Given the description of an element on the screen output the (x, y) to click on. 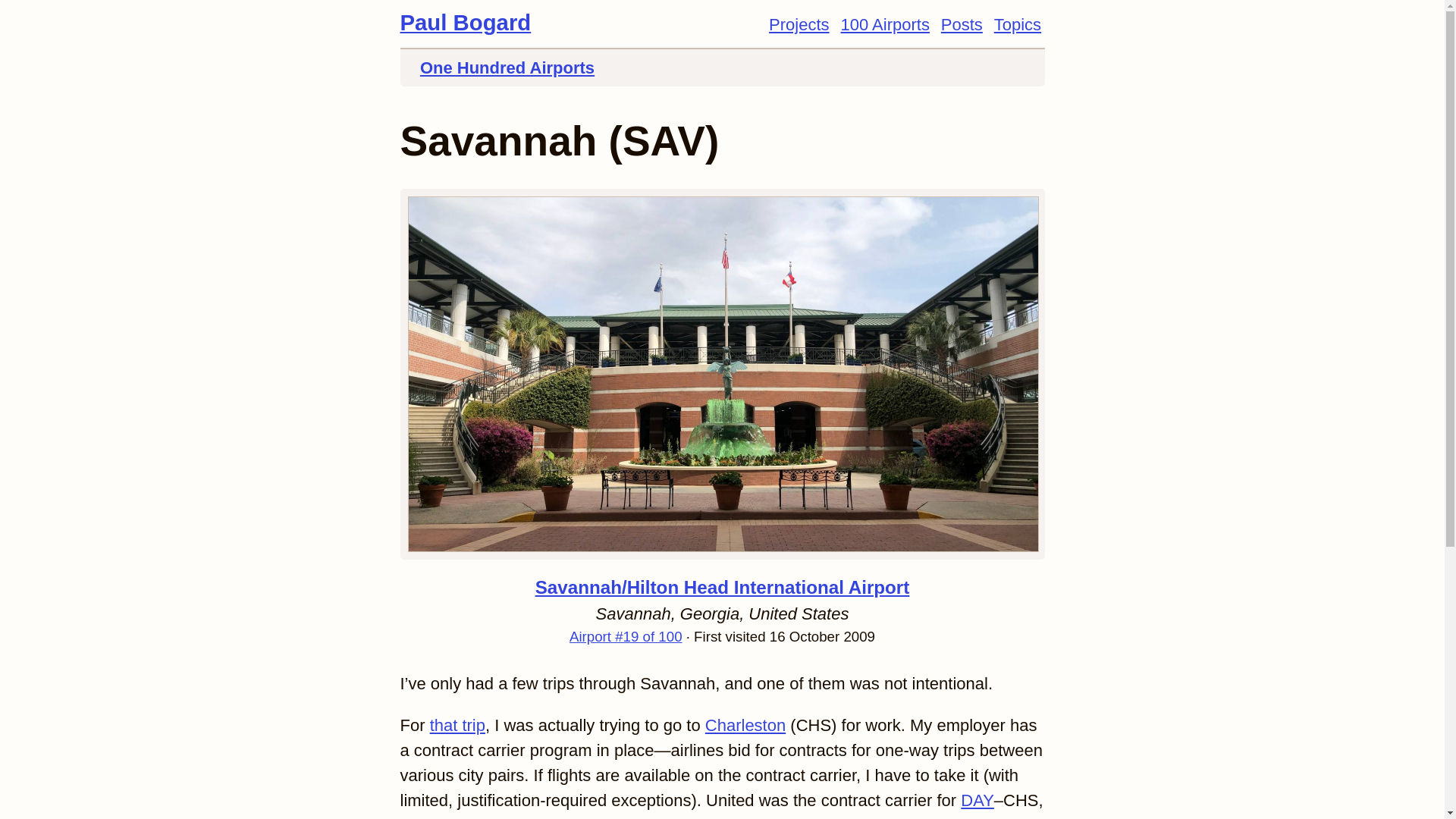
One Hundred Airports (507, 67)
Paul Bogard (465, 22)
that trip (456, 724)
